Given the description of an element on the screen output the (x, y) to click on. 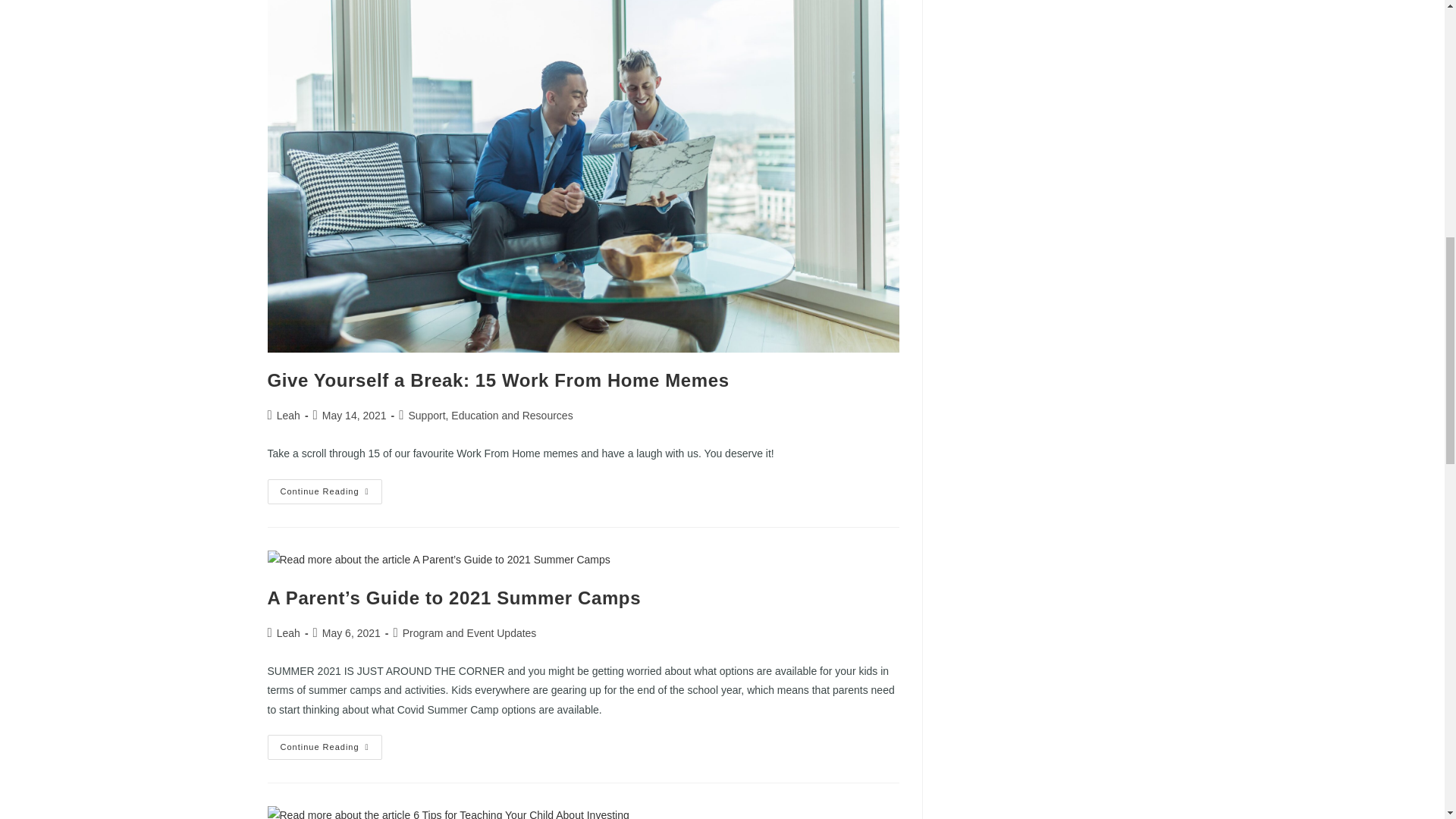
Posts by Leah (287, 633)
Posts by Leah (287, 415)
